Given the description of an element on the screen output the (x, y) to click on. 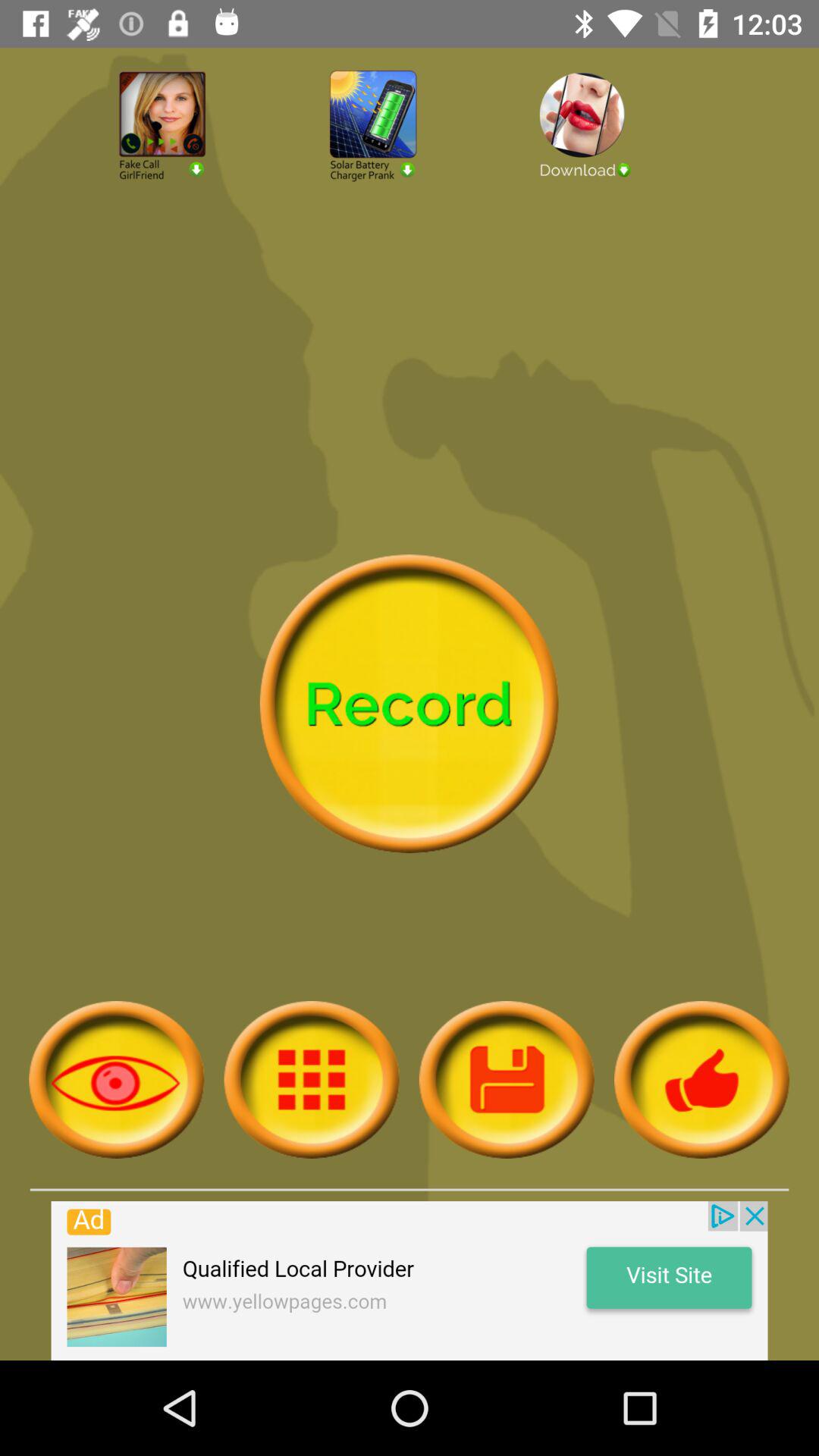
game view (116, 1079)
